Given the description of an element on the screen output the (x, y) to click on. 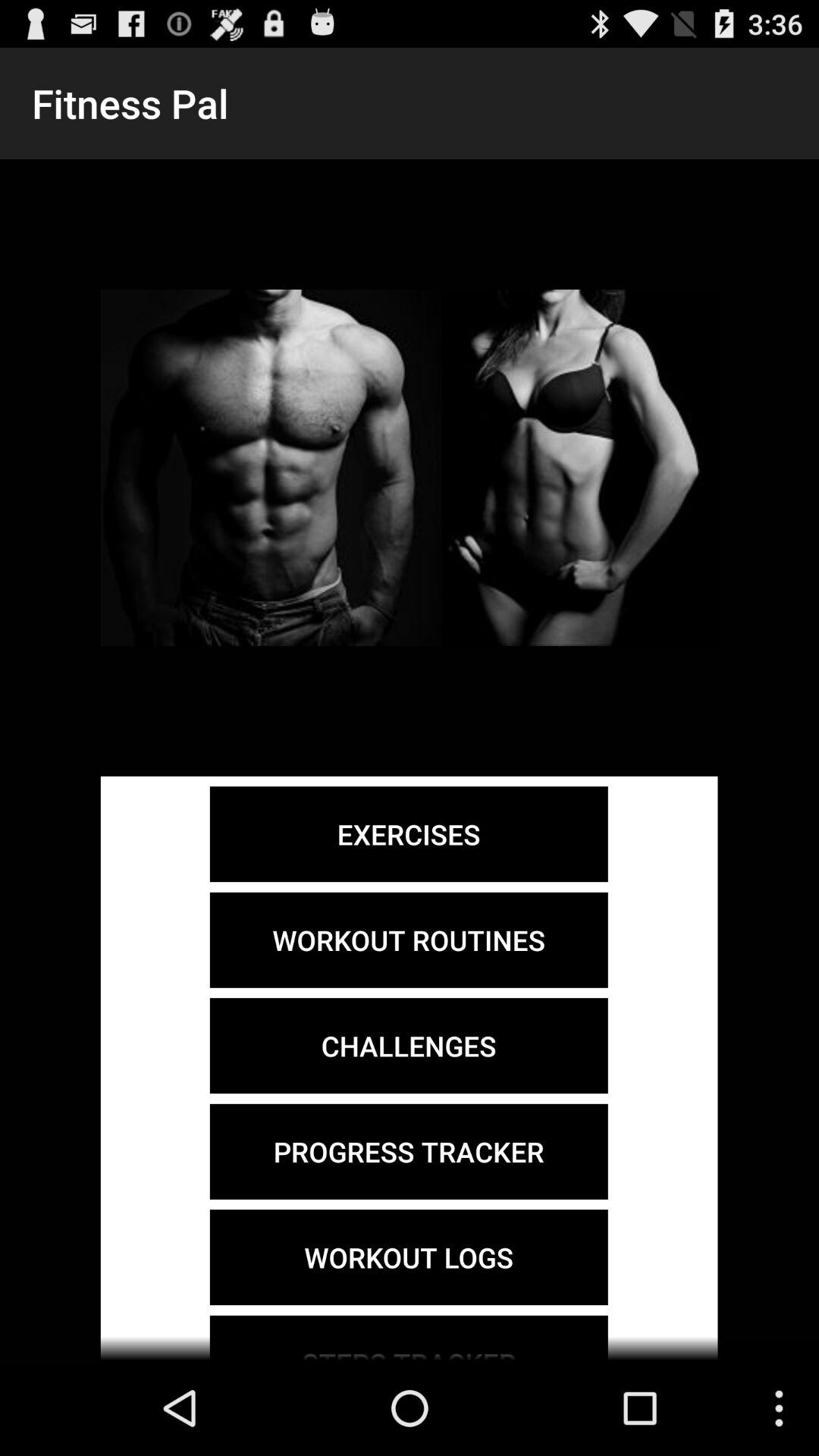
launch the icon above steps tracker (408, 1257)
